Given the description of an element on the screen output the (x, y) to click on. 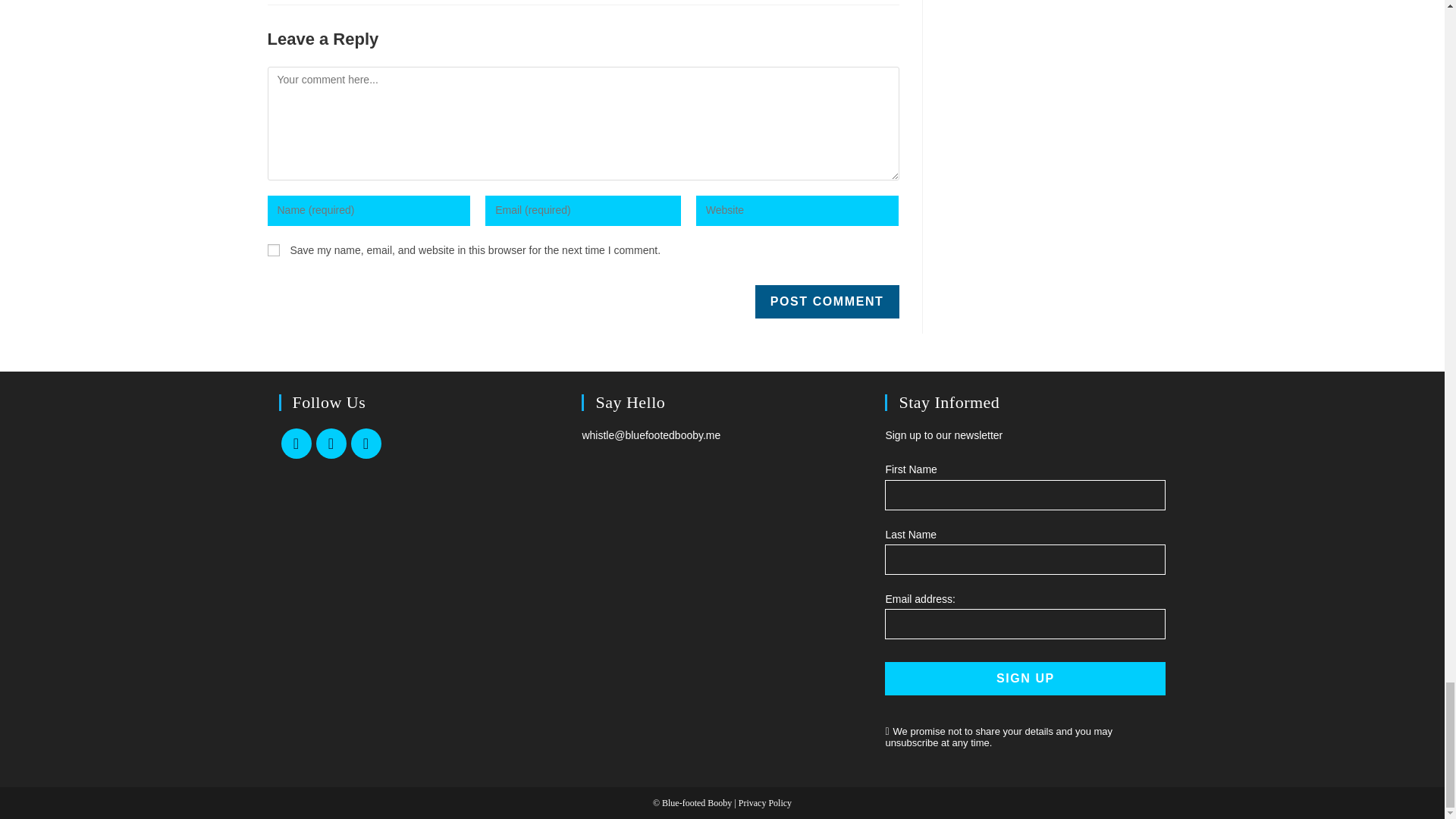
Sign up (1025, 678)
yes (272, 250)
Post Comment (827, 301)
